Given the description of an element on the screen output the (x, y) to click on. 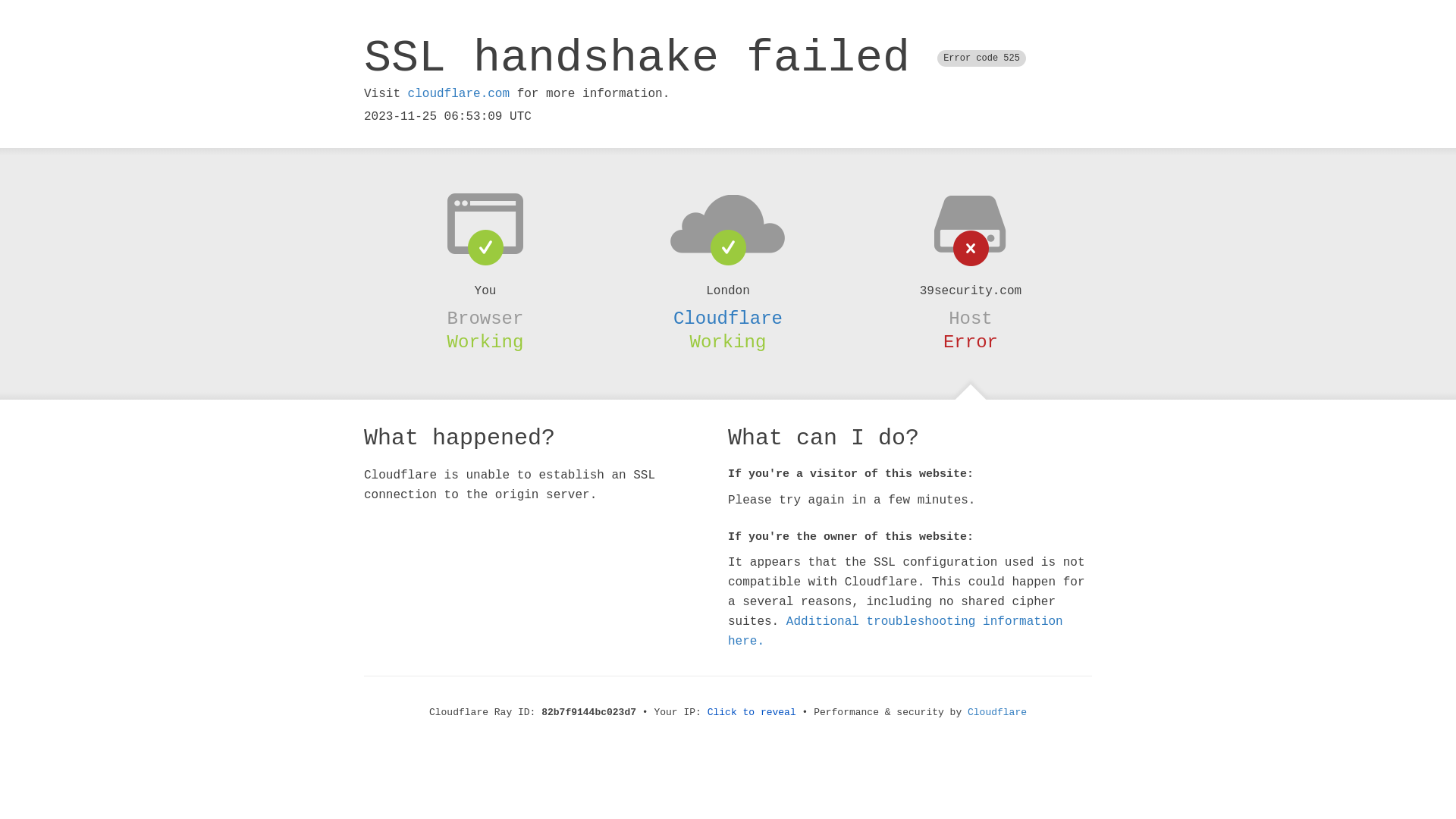
Additional troubleshooting information here. Element type: text (895, 631)
Cloudflare Element type: text (996, 712)
Click to reveal Element type: text (751, 712)
Cloudflare Element type: text (727, 318)
cloudflare.com Element type: text (458, 93)
